Given the description of an element on the screen output the (x, y) to click on. 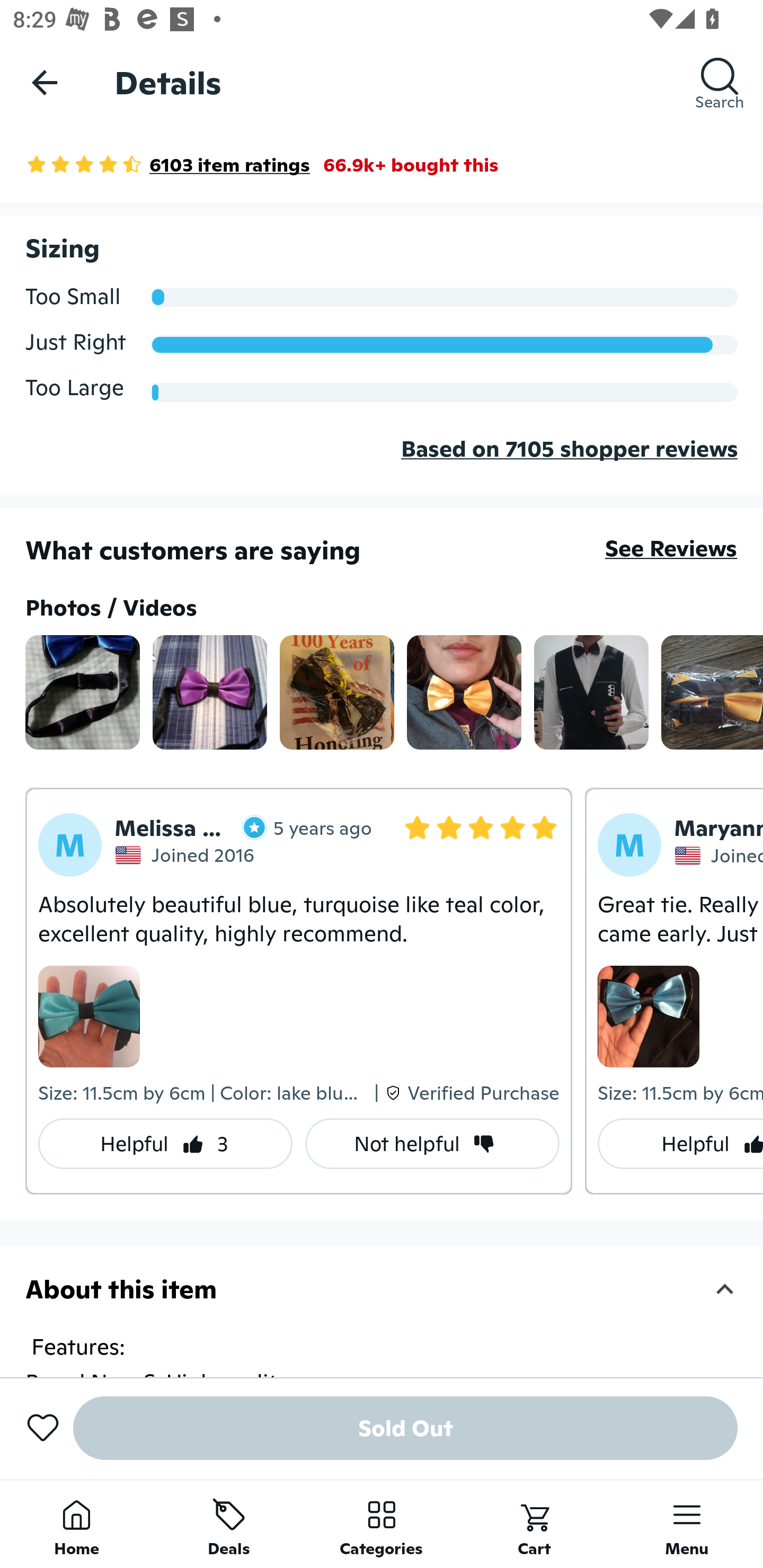
Navigate up (44, 82)
Search (719, 82)
4.4 Star Rating 6103 item ratings (167, 164)
Based on 7105 shopper reviews (381, 463)
See Reviews (671, 547)
M (69, 844)
Melissa Dawn (190, 827)
M (629, 844)
Maryanna (718, 828)
Joined 2016  (186, 854)
Joined 2018  (718, 855)
Helpful 3 (165, 1143)
Not helpful (432, 1143)
Helpful (680, 1143)
About this item (381, 1288)
Sold Out (405, 1428)
Home (76, 1523)
Deals (228, 1523)
Categories (381, 1523)
Cart (533, 1523)
Menu (686, 1523)
